Given the description of an element on the screen output the (x, y) to click on. 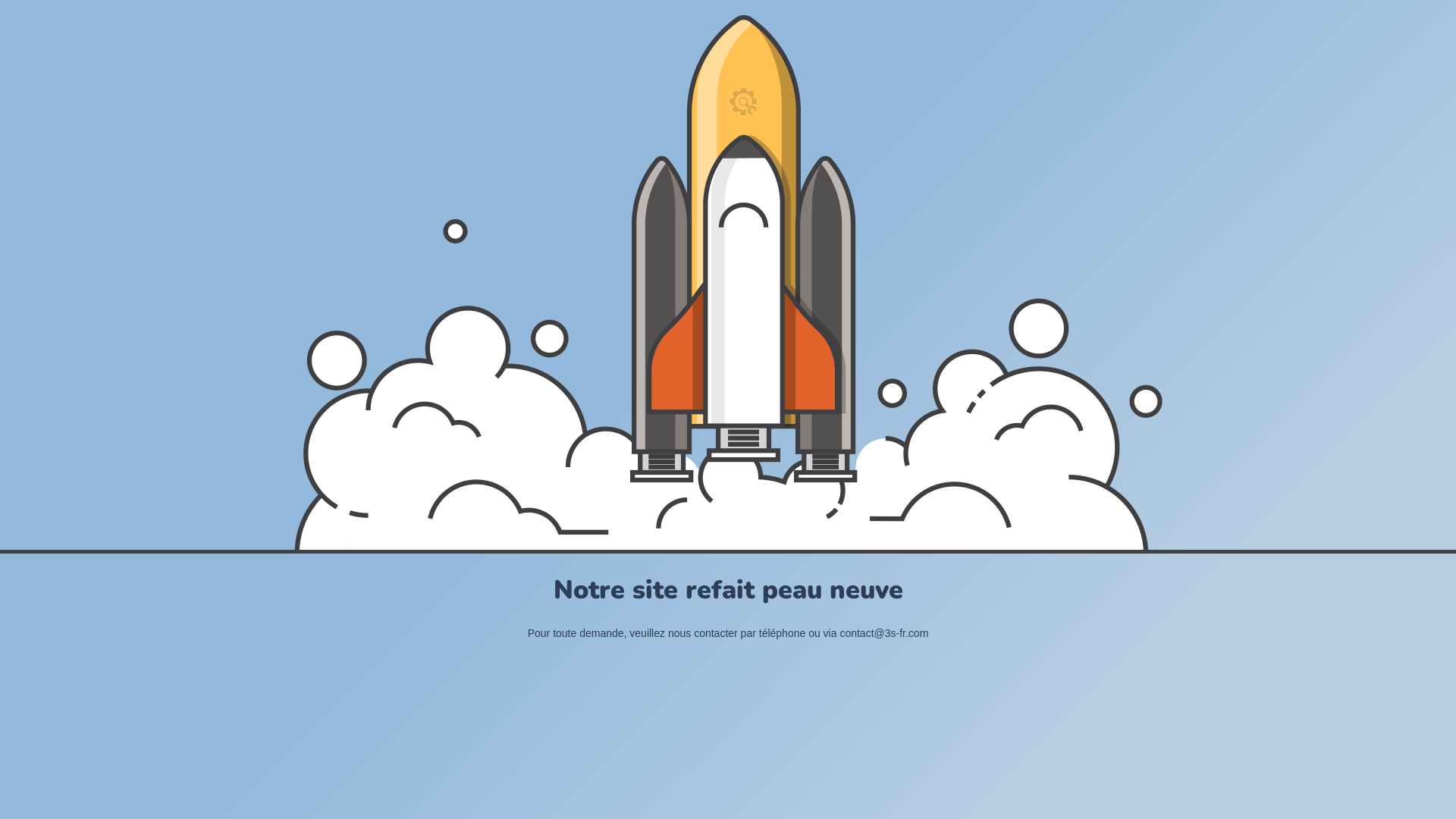
Rocket Launch Element type: hover (728, 282)
